Given the description of an element on the screen output the (x, y) to click on. 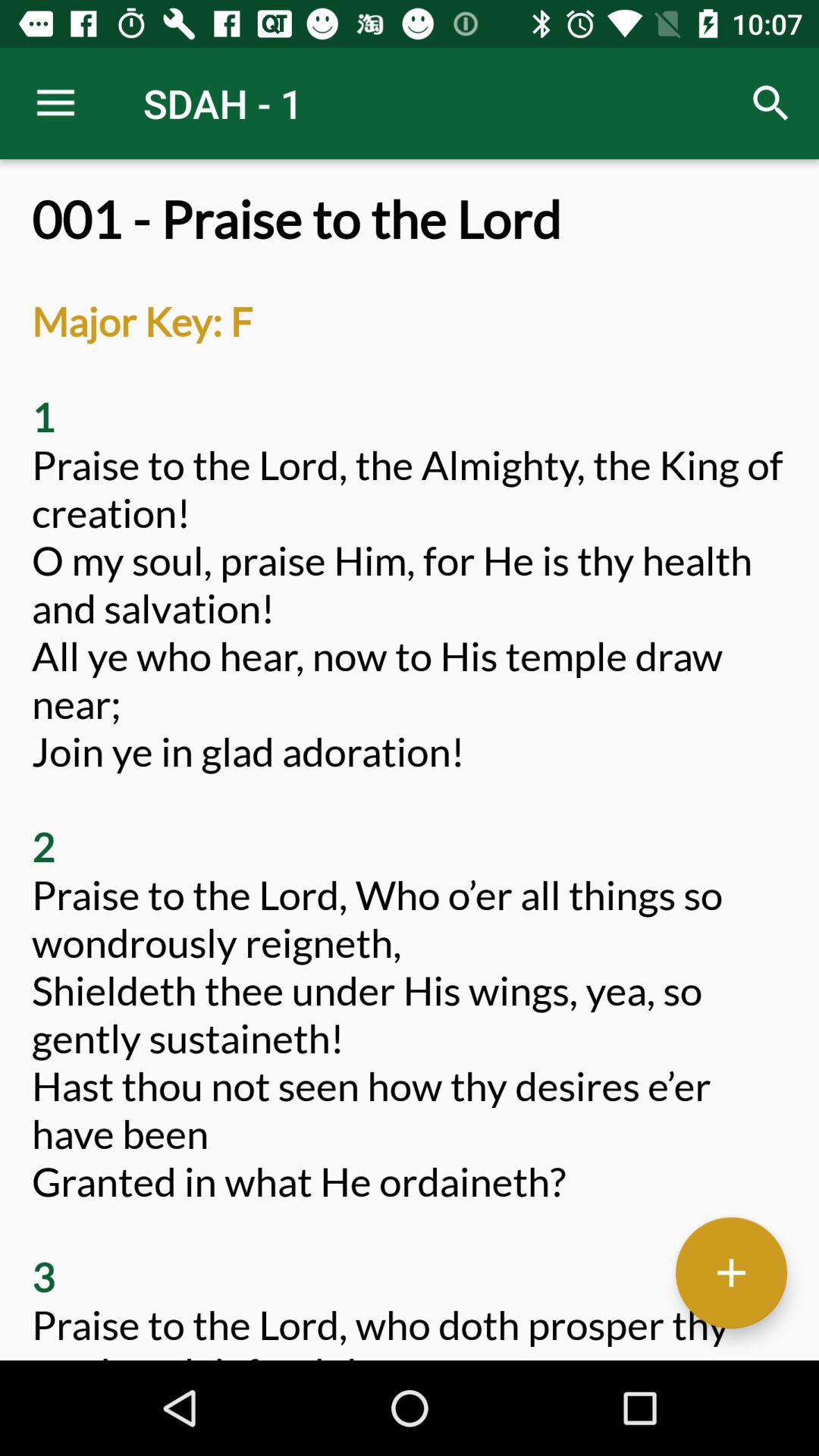
open the item above 001 praise to item (771, 103)
